Given the description of an element on the screen output the (x, y) to click on. 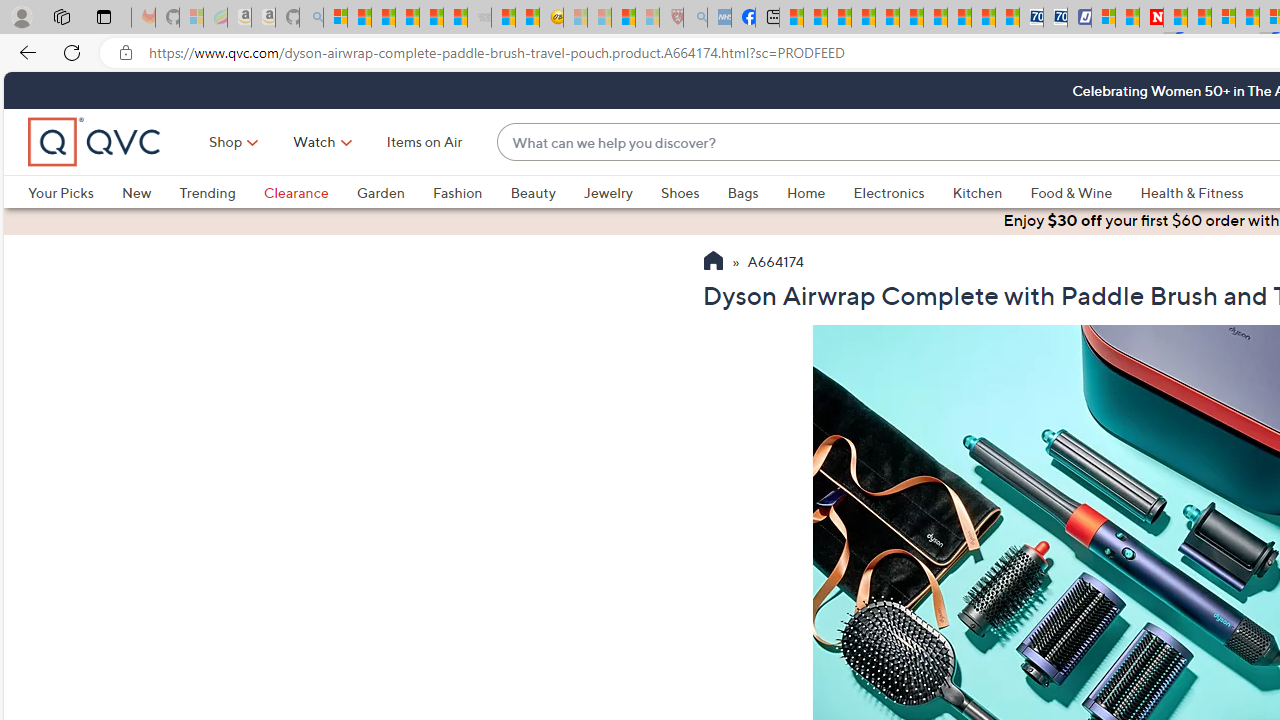
Shop (226, 141)
Home (805, 192)
Food & Wine (1071, 192)
Bags (743, 192)
Trusted Community Engagement and Contributions | Guidelines (1174, 17)
Your Picks (60, 192)
Clearance (309, 192)
Your Picks (74, 192)
Recipes - MSN - Sleeping (575, 17)
Microsoft-Report a Concern to Bing - Sleeping (191, 17)
list of asthma inhalers uk - Search - Sleeping (694, 17)
Kitchen (991, 192)
